Given the description of an element on the screen output the (x, y) to click on. 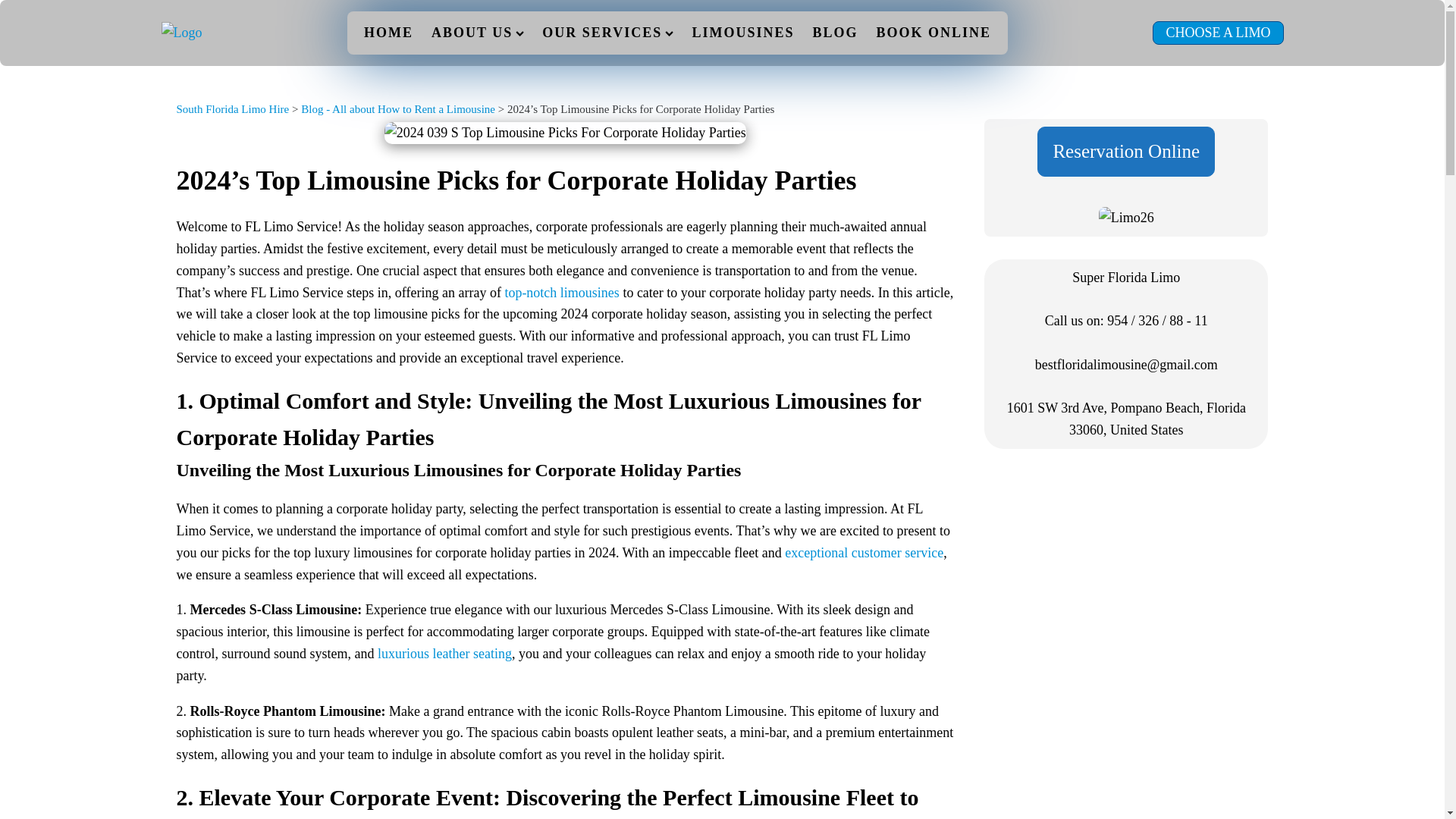
South Florida Limo Hire (232, 109)
Limousine Service in DEERFIELD Beach, FLORIDA (444, 653)
BOOK ONLINE (933, 32)
BLOG (834, 32)
CHOOSE A LIMO (1217, 33)
Blog - All about How to Rent a Limousine (398, 109)
Reservation Online (1125, 151)
Limo26 (1126, 218)
2024 039 S Top Limousine Picks For Corporate Holiday Parties (564, 133)
